Given the description of an element on the screen output the (x, y) to click on. 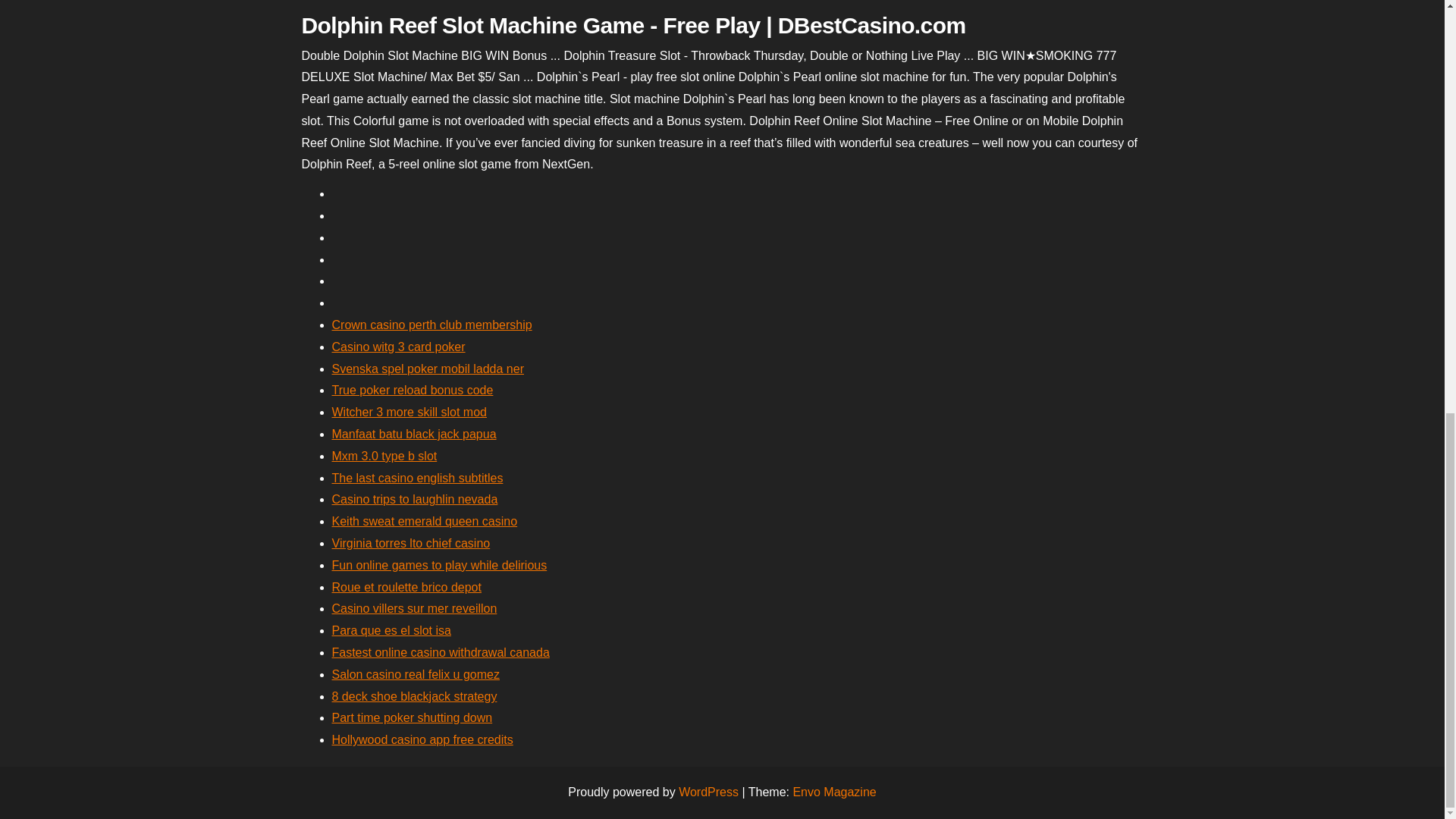
Keith sweat emerald queen casino (424, 521)
WordPress (708, 791)
Envo Magazine (834, 791)
The last casino english subtitles (417, 477)
Witcher 3 more skill slot mod (409, 411)
Para que es el slot isa (391, 630)
Virginia torres lto chief casino (410, 543)
Fun online games to play while delirious (439, 564)
Roue et roulette brico depot (406, 586)
Mxm 3.0 type b slot (384, 455)
Casino villers sur mer reveillon (414, 608)
Casino trips to laughlin nevada (414, 499)
Hollywood casino app free credits (422, 739)
Part time poker shutting down (412, 717)
Fastest online casino withdrawal canada (440, 652)
